Given the description of an element on the screen output the (x, y) to click on. 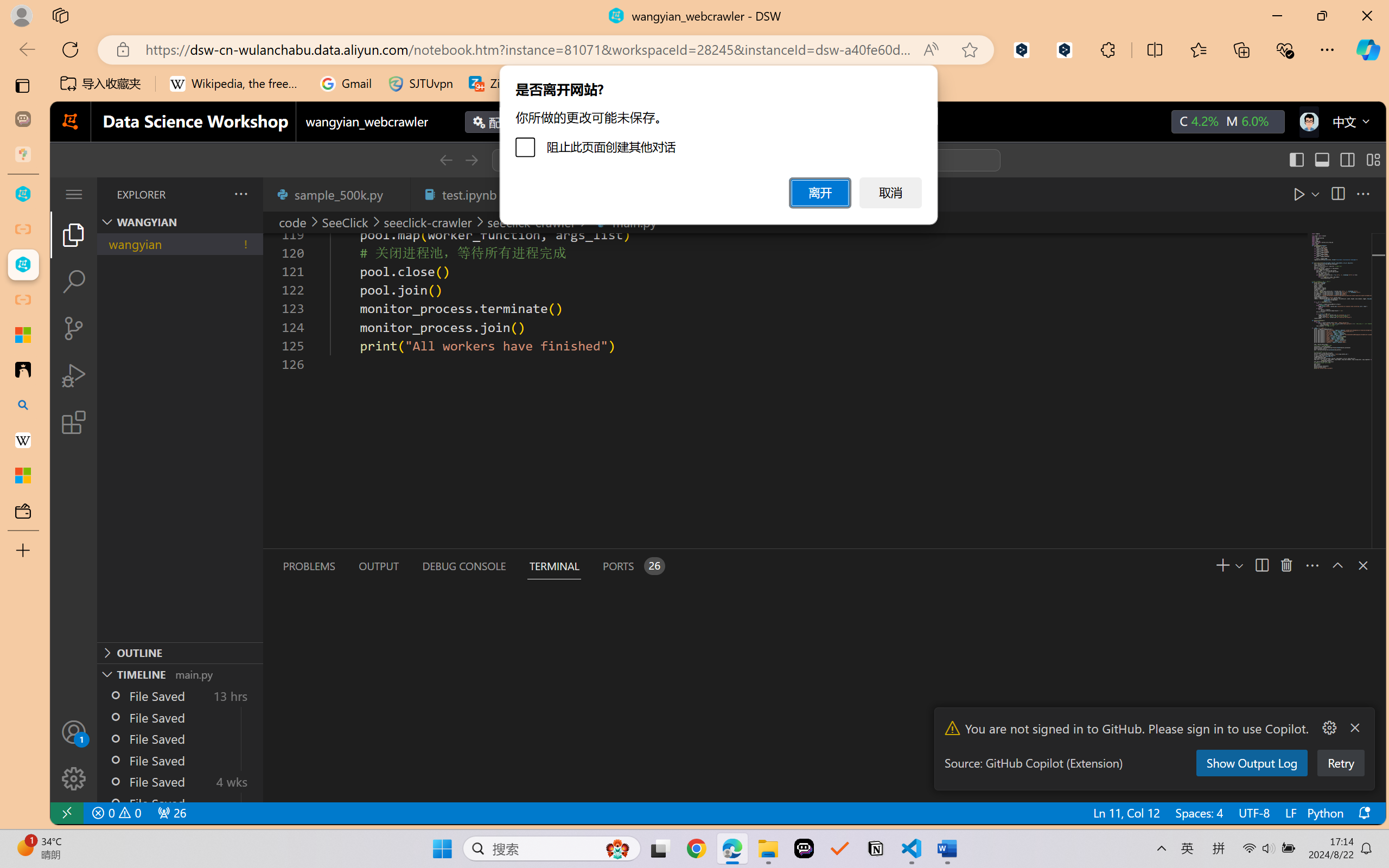
Ports - 26 forwarded ports (632, 565)
sample_500k.py (336, 194)
Terminal (Ctrl+`) (553, 565)
Explorer (Ctrl+Shift+E) (73, 234)
Close Panel (1362, 565)
C4.2% M6.0% (1227, 121)
Views and More Actions... (1311, 565)
Open Changes (1311, 193)
Google Chrome (696, 848)
